Given the description of an element on the screen output the (x, y) to click on. 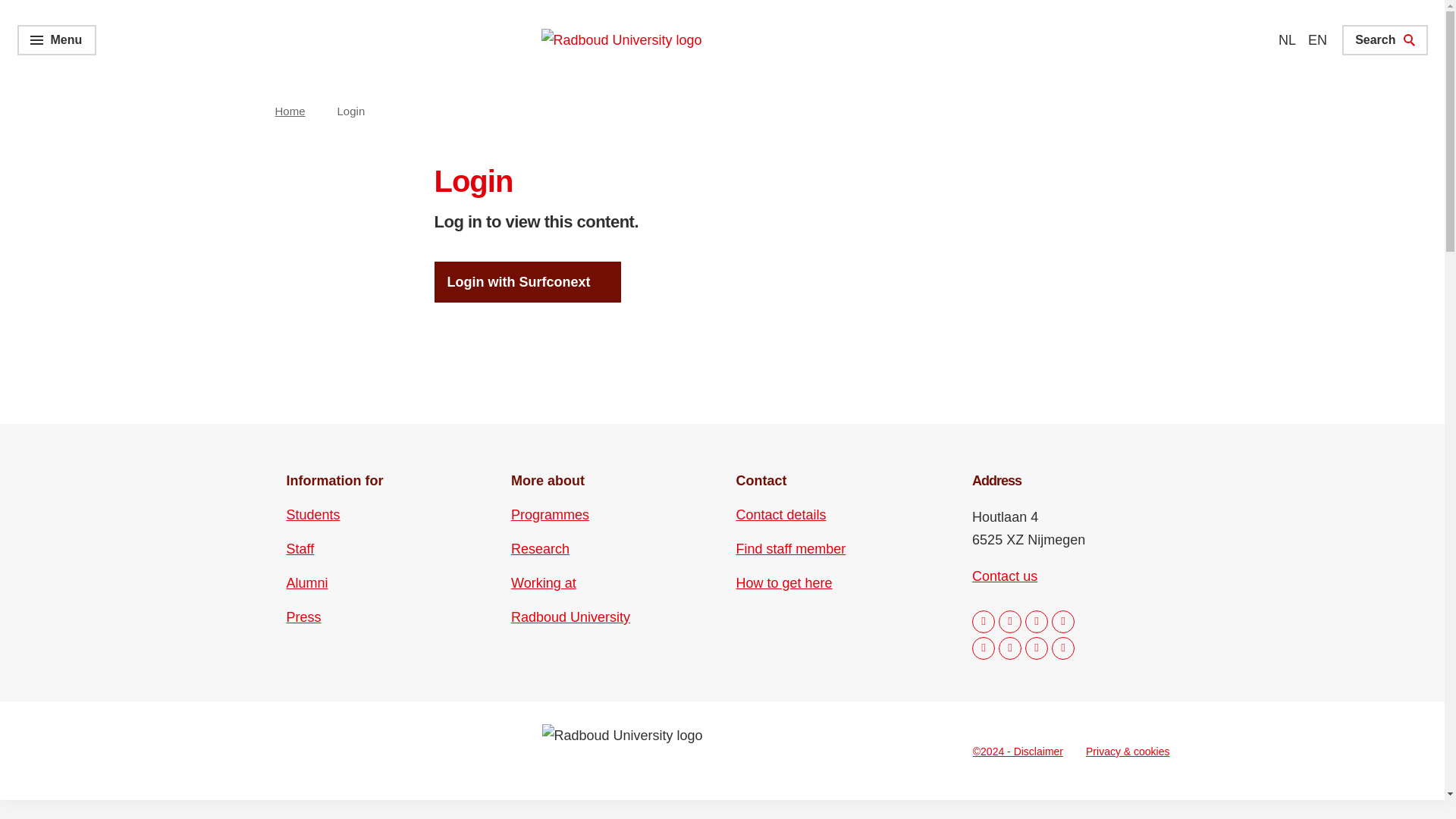
TikTok (1036, 648)
SnapChat (1062, 648)
Information about our campus and how to get here (784, 582)
X (983, 648)
Facebook (983, 621)
LinkedIn (1036, 621)
Mastodon (1062, 621)
YouTube (1010, 648)
Instagram (1010, 621)
